Given the description of an element on the screen output the (x, y) to click on. 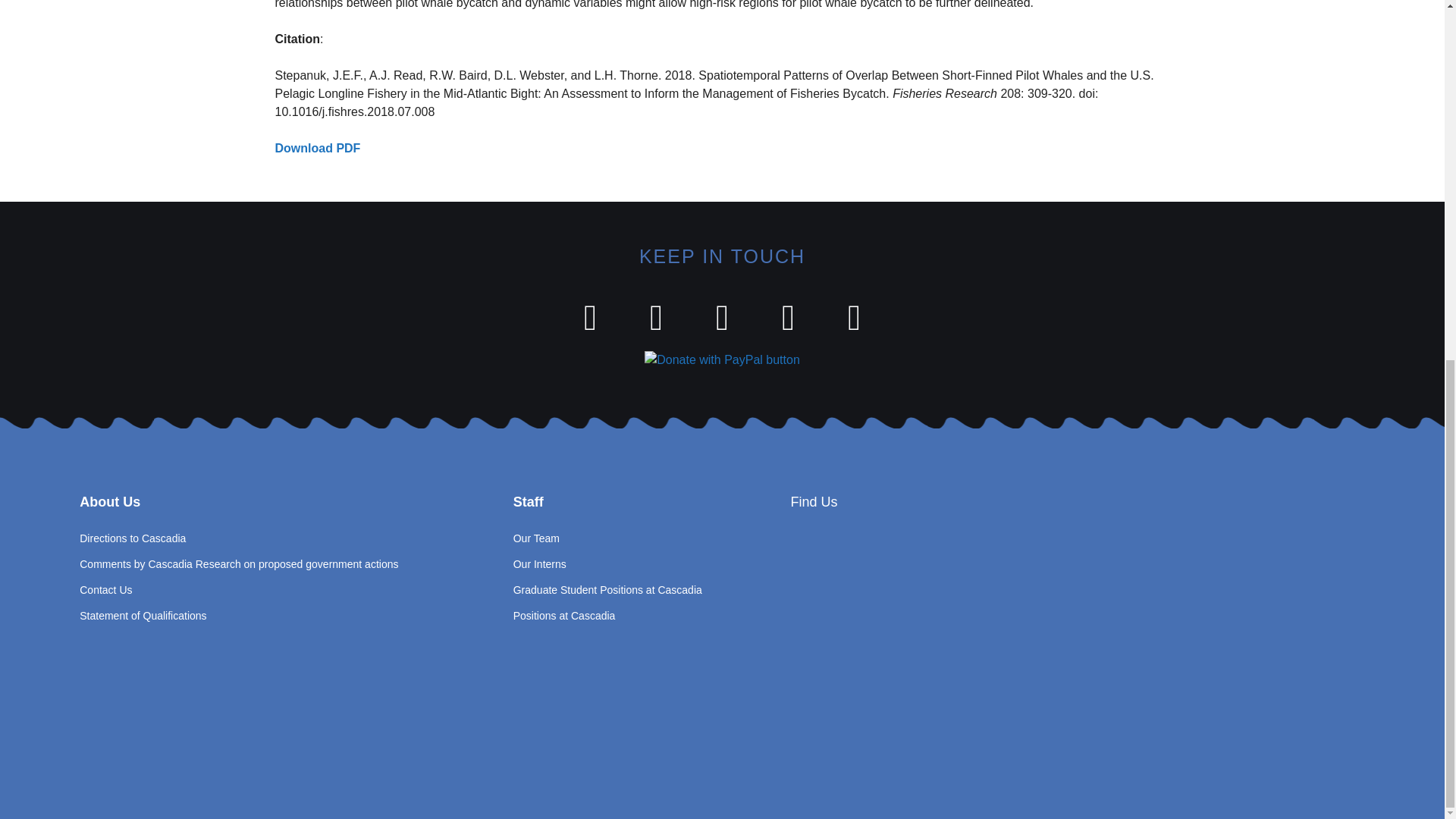
Cascadia Research Collective (1074, 638)
